Given the description of an element on the screen output the (x, y) to click on. 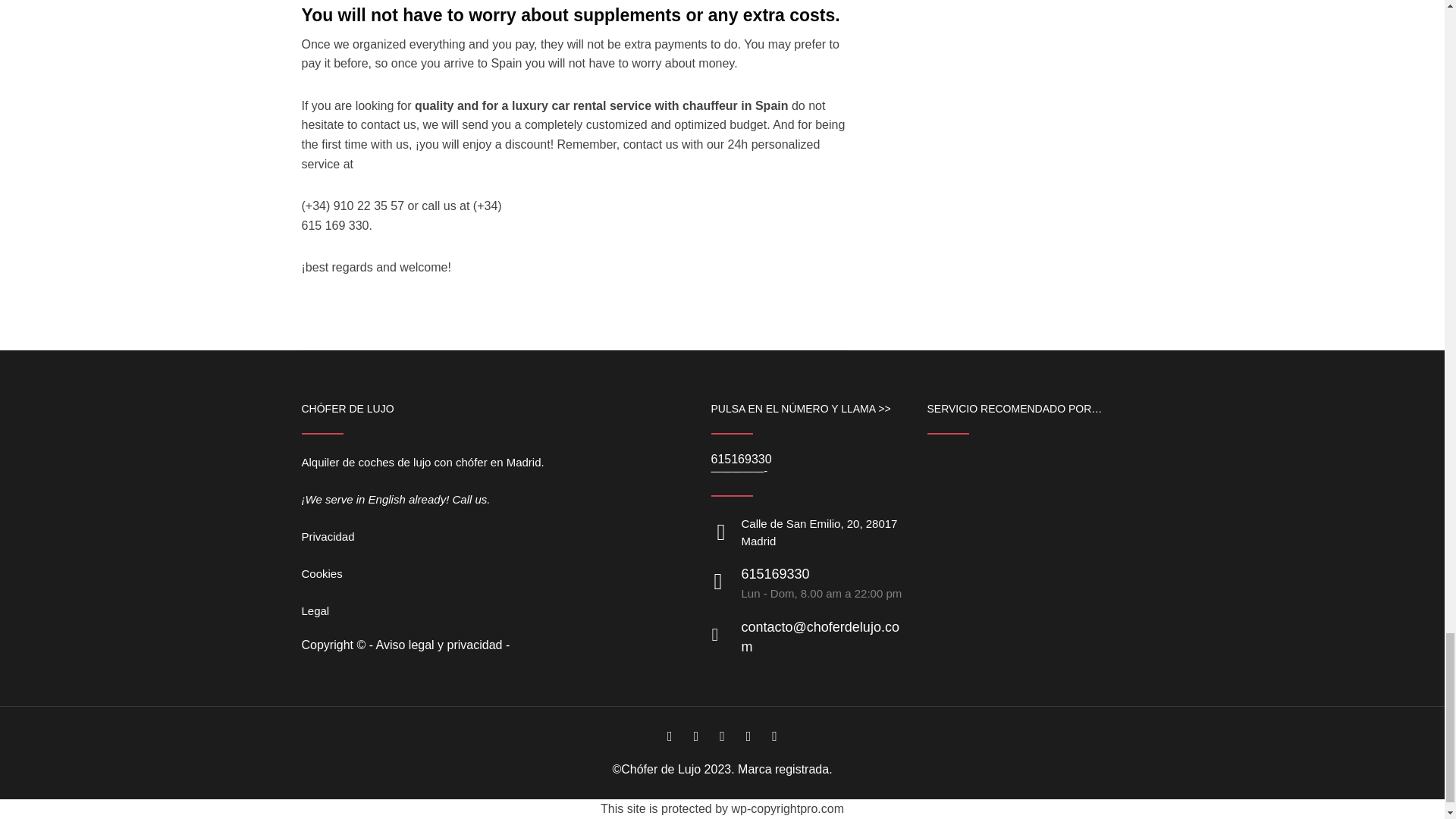
Wp-Copyrightpro (787, 808)
